Given the description of an element on the screen output the (x, y) to click on. 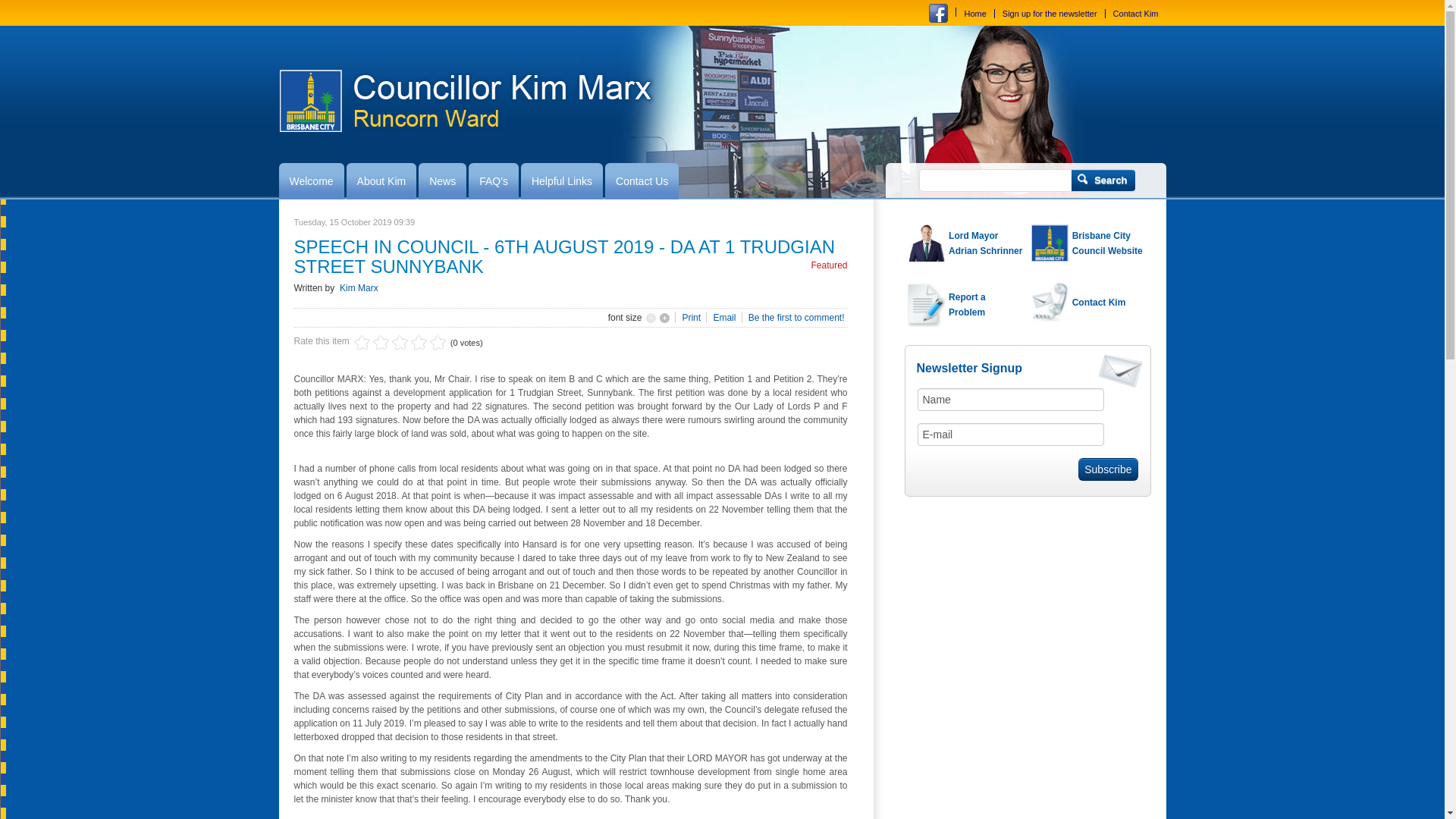
Search Element type: text (1103, 180)
Lord Mayor Adrian Schrinner Element type: text (964, 242)
Contact Us Element type: text (641, 181)
1 Element type: text (361, 342)
Home Element type: text (975, 13)
News Element type: text (442, 181)
5 Element type: text (399, 342)
Brisbane City Council Website Element type: text (1088, 242)
About Kim Element type: text (381, 181)
Sign up for the newsletter Element type: text (1049, 13)
Contact Kim Element type: text (1088, 301)
2 Element type: text (371, 342)
FAQ's Element type: text (493, 181)
Helpful Links Element type: text (561, 181)
Kim Marx Element type: text (358, 287)
Subscribe Element type: text (1107, 469)
4 Element type: text (390, 342)
Name Element type: hover (1010, 399)
Contact Kim Element type: text (1135, 13)
3 Element type: text (380, 342)
Report a Problem Element type: text (964, 303)
Be the first to comment! Element type: text (796, 317)
Print Element type: text (691, 317)
Email Element type: text (724, 317)
Welcome Element type: text (311, 181)
E-mail Element type: hover (1010, 434)
